Given the description of an element on the screen output the (x, y) to click on. 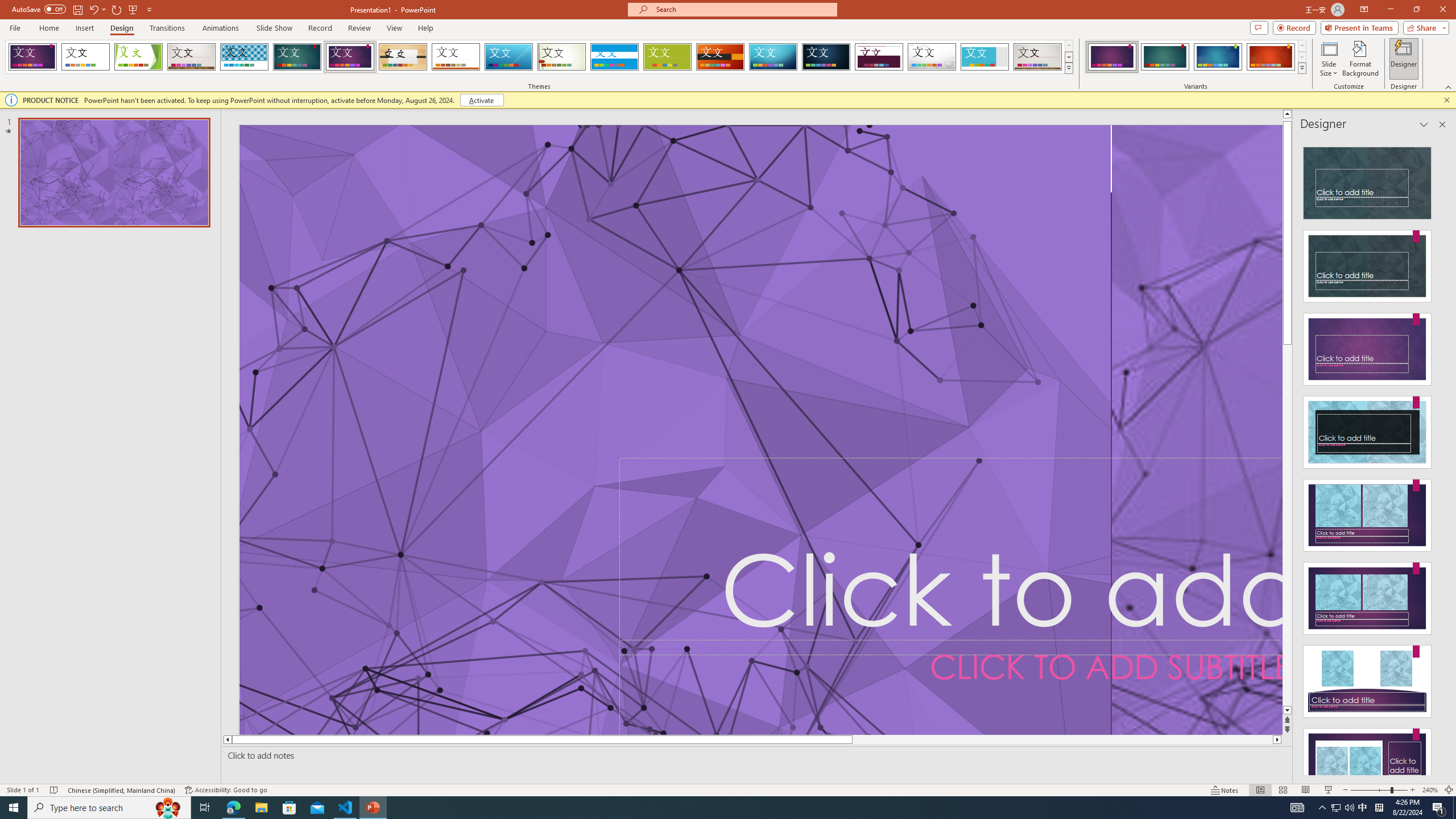
Recommended Design: Design Idea (1366, 179)
Design Idea (1366, 760)
